Given the description of an element on the screen output the (x, y) to click on. 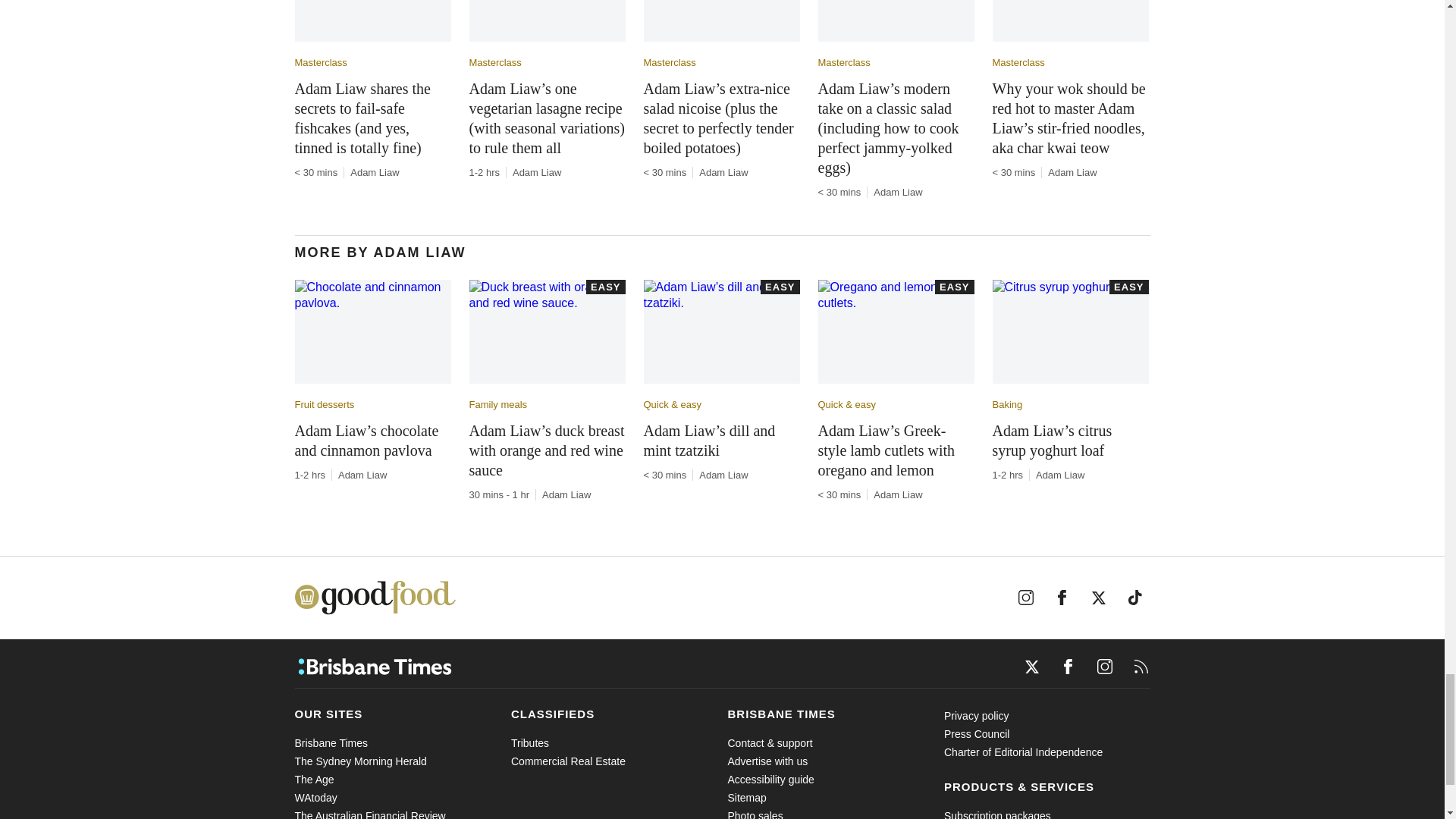
Good Food logo (374, 597)
